Given the description of an element on the screen output the (x, y) to click on. 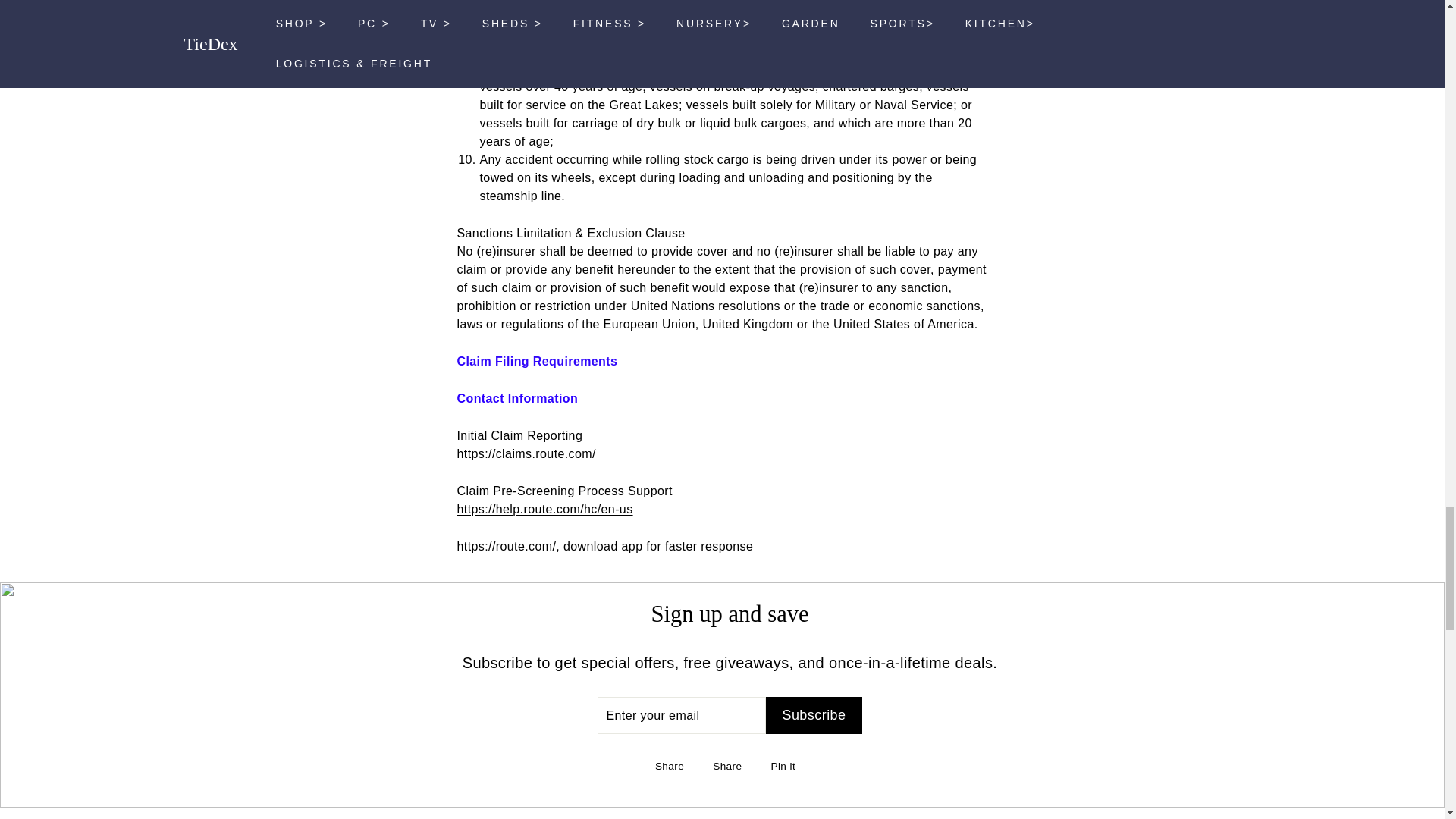
Pin on Pinterest (787, 765)
Tweet on X (731, 765)
Share on Facebook (673, 765)
